Given the description of an element on the screen output the (x, y) to click on. 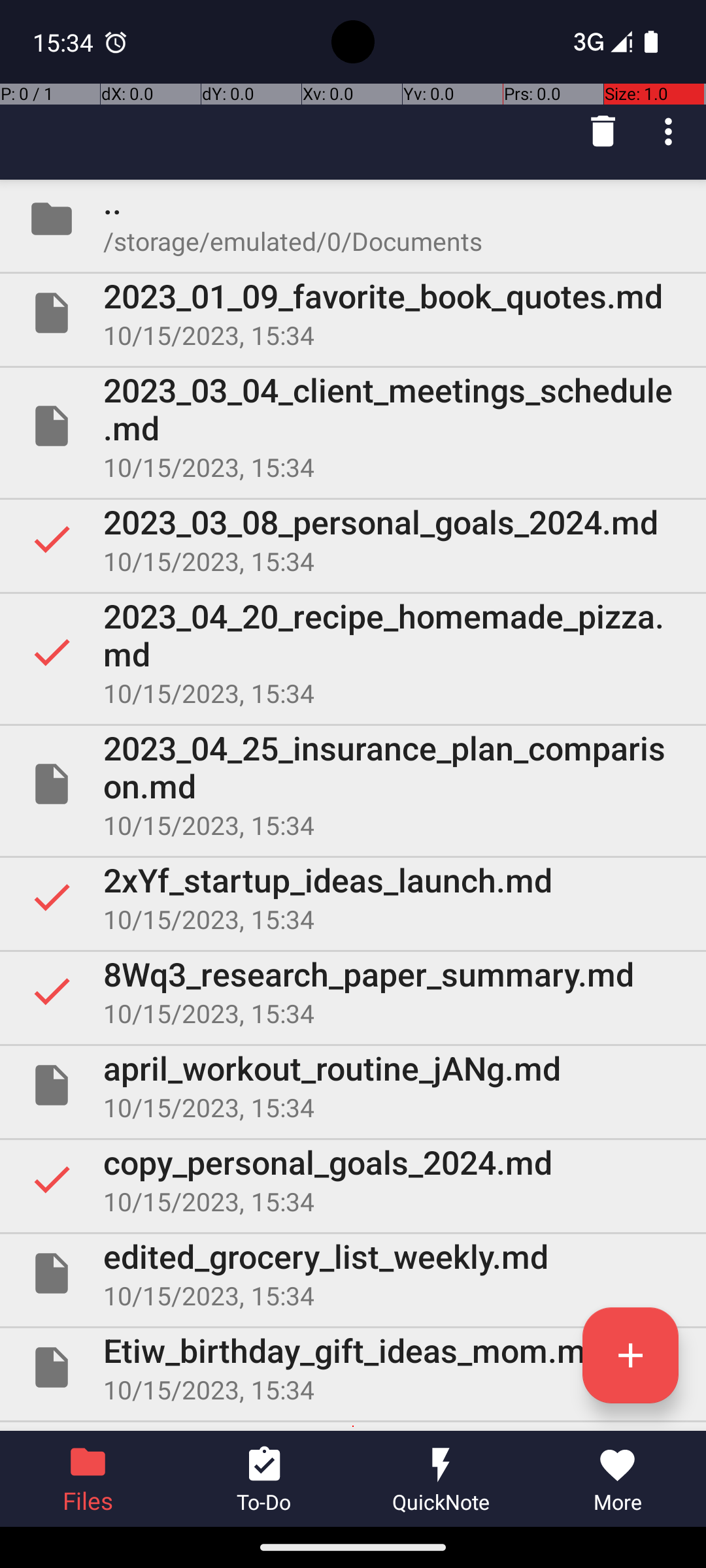
File 2023_01_09_favorite_book_quotes.md  Element type: android.widget.LinearLayout (353, 312)
File 2023_03_04_client_meetings_schedule.md  Element type: android.widget.LinearLayout (353, 425)
Selected 2023_03_08_personal_goals_2024.md  Element type: android.widget.LinearLayout (353, 538)
Selected 2023_04_20_recipe_homemade_pizza.md 10/15/2023, 15:34 Element type: android.widget.LinearLayout (353, 651)
File 2023_04_25_insurance_plan_comparison.md  Element type: android.widget.LinearLayout (353, 783)
Selected 2xYf_startup_ideas_launch.md 10/15/2023, 15:34 Element type: android.widget.LinearLayout (353, 896)
Selected 8Wq3_research_paper_summary.md 10/15/2023, 15:34 Element type: android.widget.LinearLayout (353, 990)
File april_workout_routine_jANg.md  Element type: android.widget.LinearLayout (353, 1084)
Selected copy_personal_goals_2024.md 10/15/2023, 15:34 Element type: android.widget.LinearLayout (353, 1179)
File edited_grocery_list_weekly.md  Element type: android.widget.LinearLayout (353, 1273)
File Etiw_birthday_gift_ideas_mom.md  Element type: android.widget.LinearLayout (353, 1367)
Selected J7k3_research_paper_summary.md 10/15/2023, 15:34 Element type: android.widget.LinearLayout (353, 1426)
